Given the description of an element on the screen output the (x, y) to click on. 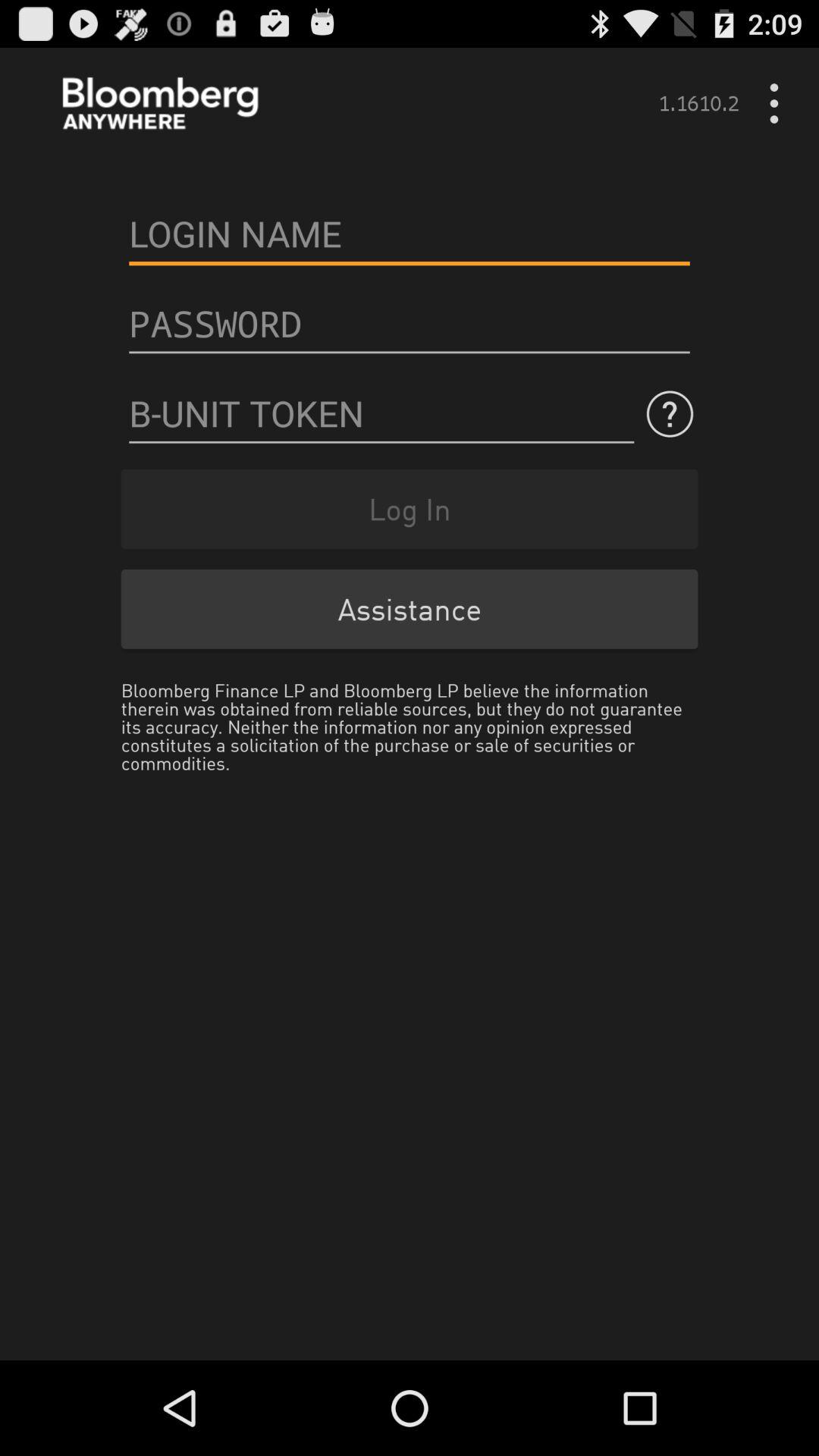
tap log in icon (409, 508)
